Given the description of an element on the screen output the (x, y) to click on. 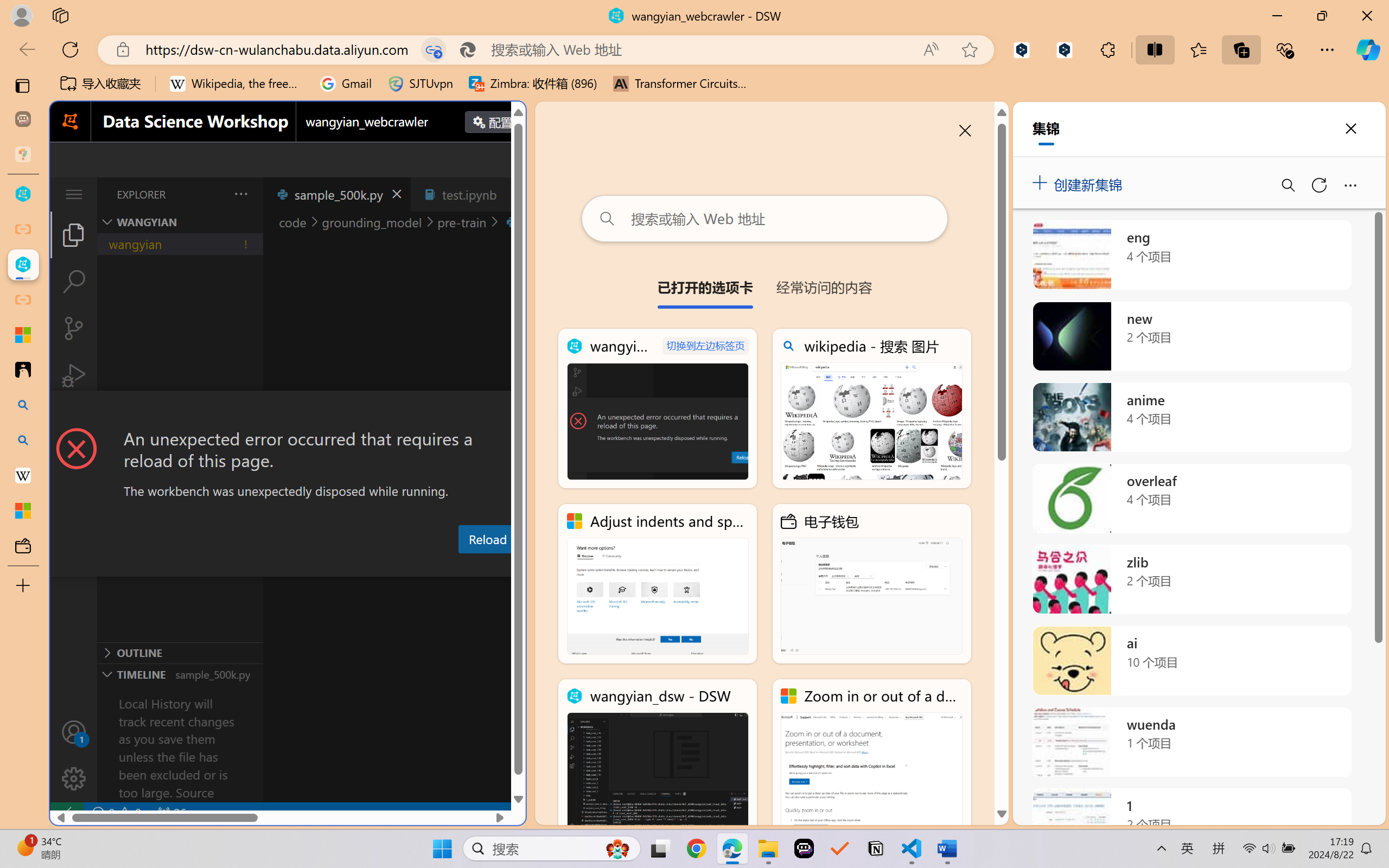
Run and Debug (Ctrl+Shift+D) (73, 375)
Application Menu (73, 194)
Reload (486, 538)
Source Control (Ctrl+Shift+G) (73, 328)
remote (66, 812)
Debug Console (Ctrl+Shift+Y) (463, 565)
